Given the description of an element on the screen output the (x, y) to click on. 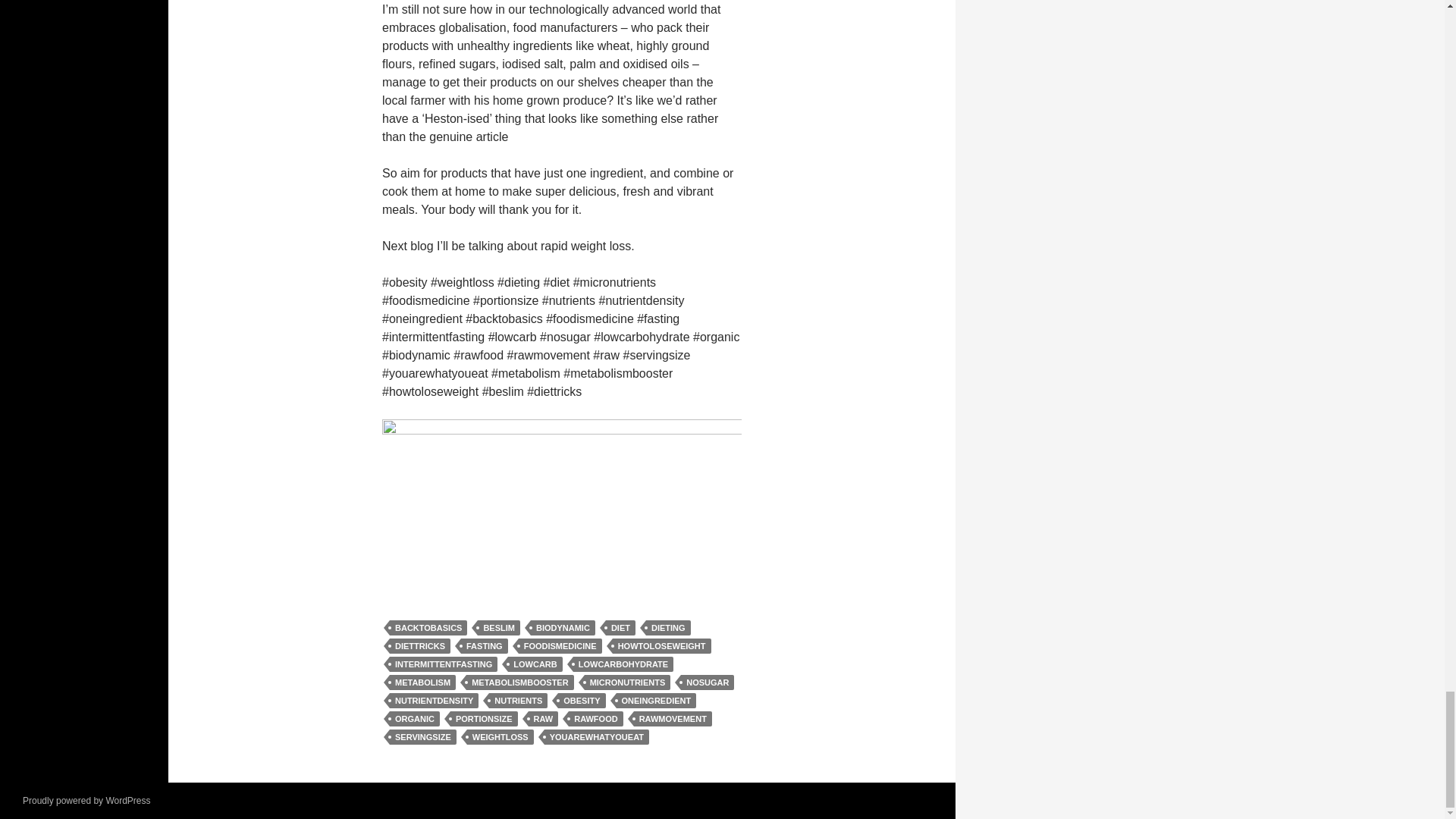
DIETING (668, 627)
BIODYNAMIC (563, 627)
BESLIM (498, 627)
BACKTOBASICS (428, 627)
DIETTRICKS (419, 645)
FASTING (484, 645)
FOODISMEDICINE (560, 645)
DIET (619, 627)
